Given the description of an element on the screen output the (x, y) to click on. 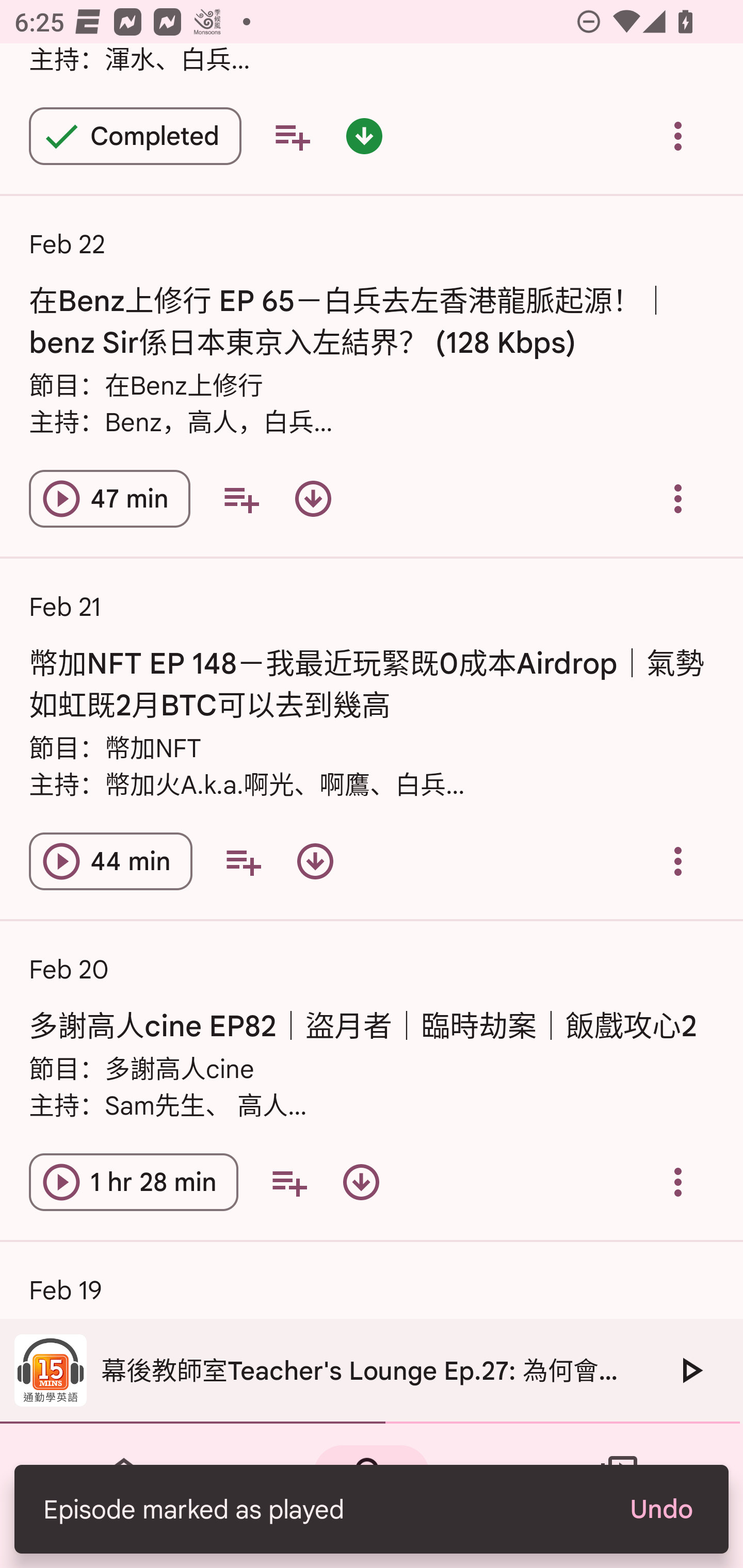
Add to your queue (291, 135)
Episode downloaded - double tap for options (364, 135)
Overflow menu (677, 135)
Add to your queue (241, 498)
Download episode (313, 498)
Overflow menu (677, 498)
Add to your queue (242, 861)
Download episode (315, 861)
Overflow menu (677, 861)
Add to your queue (288, 1182)
Download episode (361, 1182)
Overflow menu (677, 1182)
Play (690, 1370)
Undo (660, 1509)
